Given the description of an element on the screen output the (x, y) to click on. 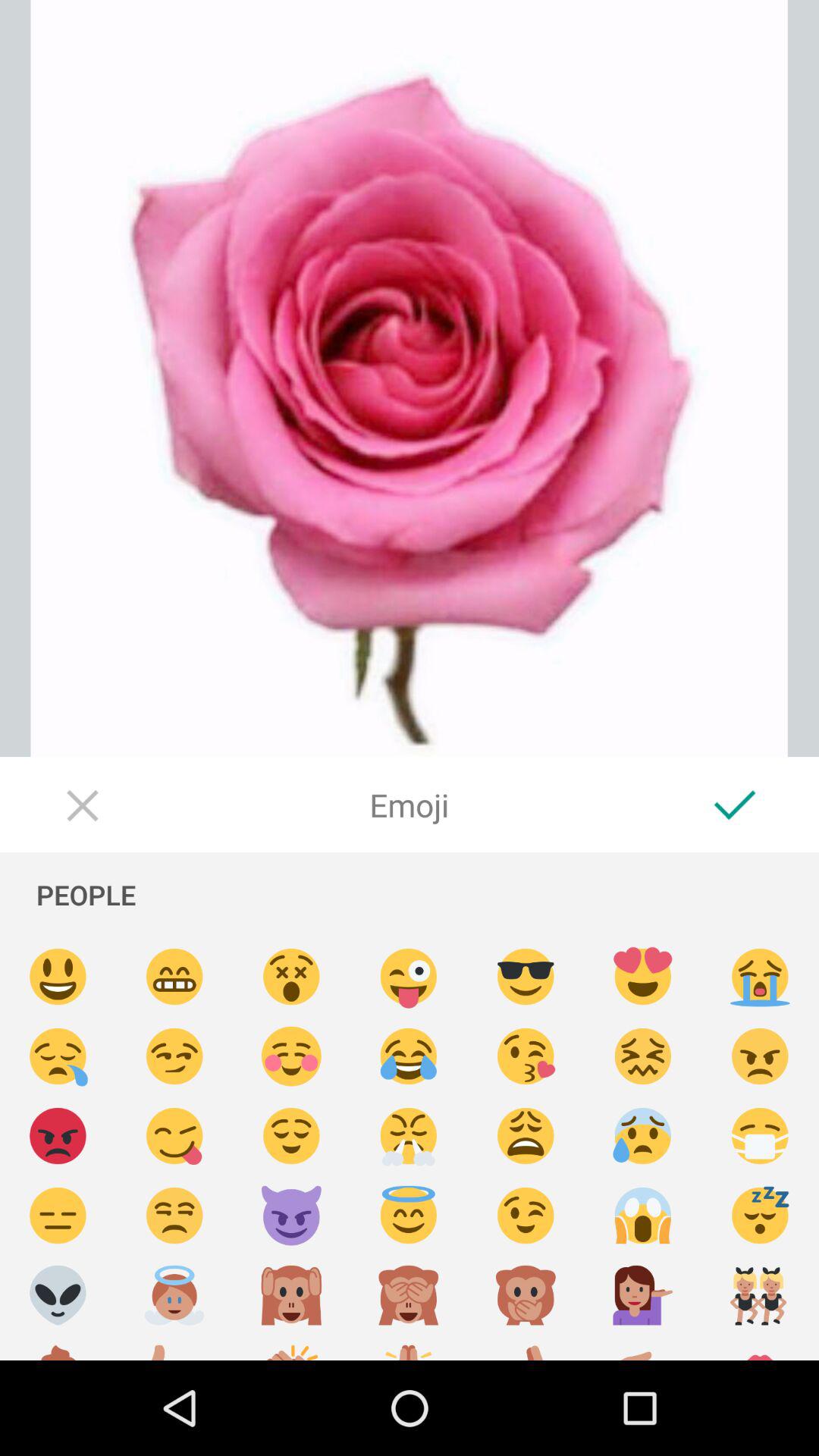
click crying emoji (760, 976)
